Given the description of an element on the screen output the (x, y) to click on. 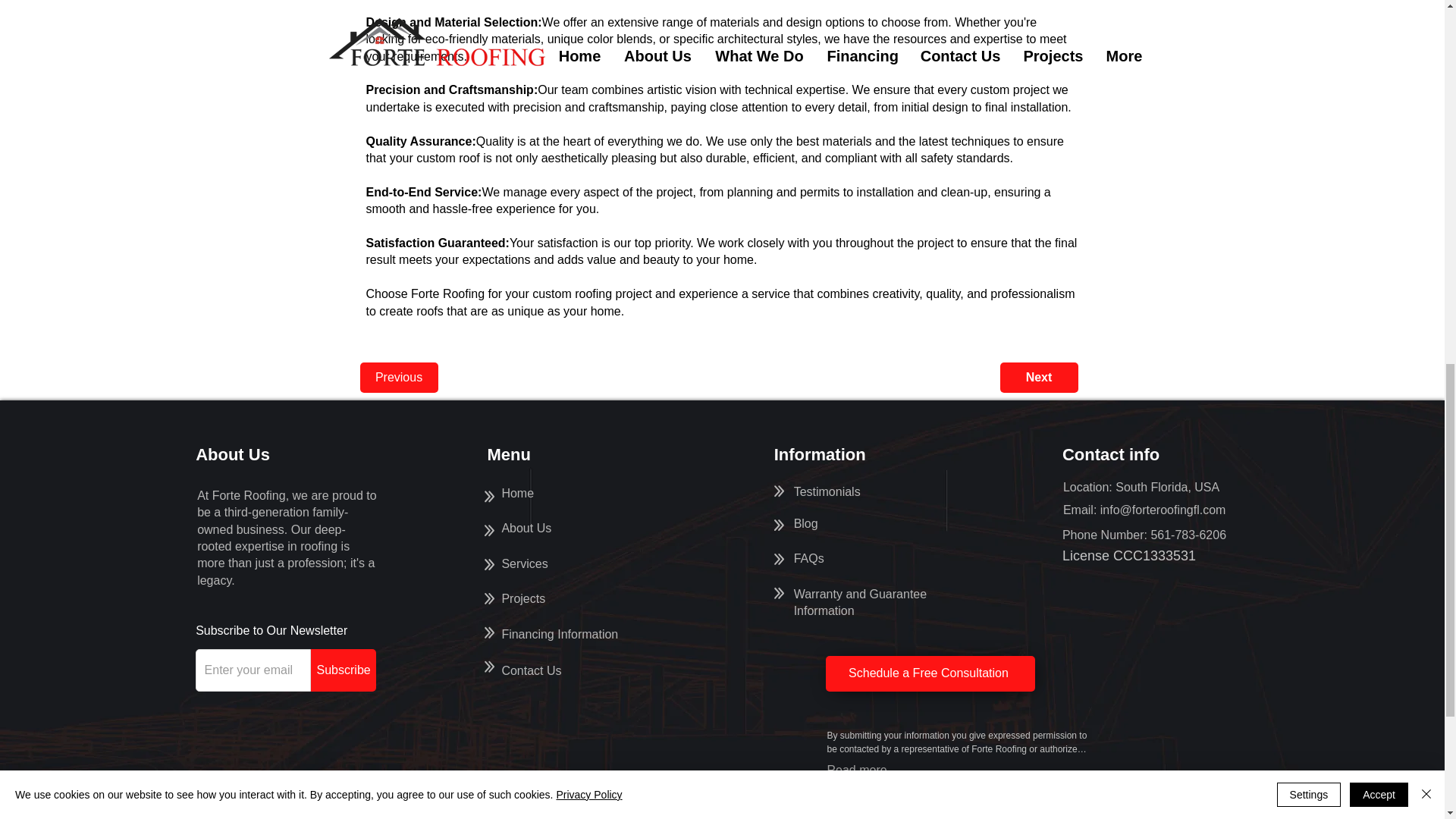
FAQs (808, 558)
Previous (398, 377)
561-783-6206 (1187, 534)
Read more (856, 770)
Projects (522, 598)
Subscribe (343, 670)
Services (523, 563)
Financing Information (860, 602)
Testimonials (558, 634)
Next (826, 491)
Blog (1037, 377)
Home (805, 522)
About Us (517, 492)
Schedule a Free Consultation (525, 527)
